Given the description of an element on the screen output the (x, y) to click on. 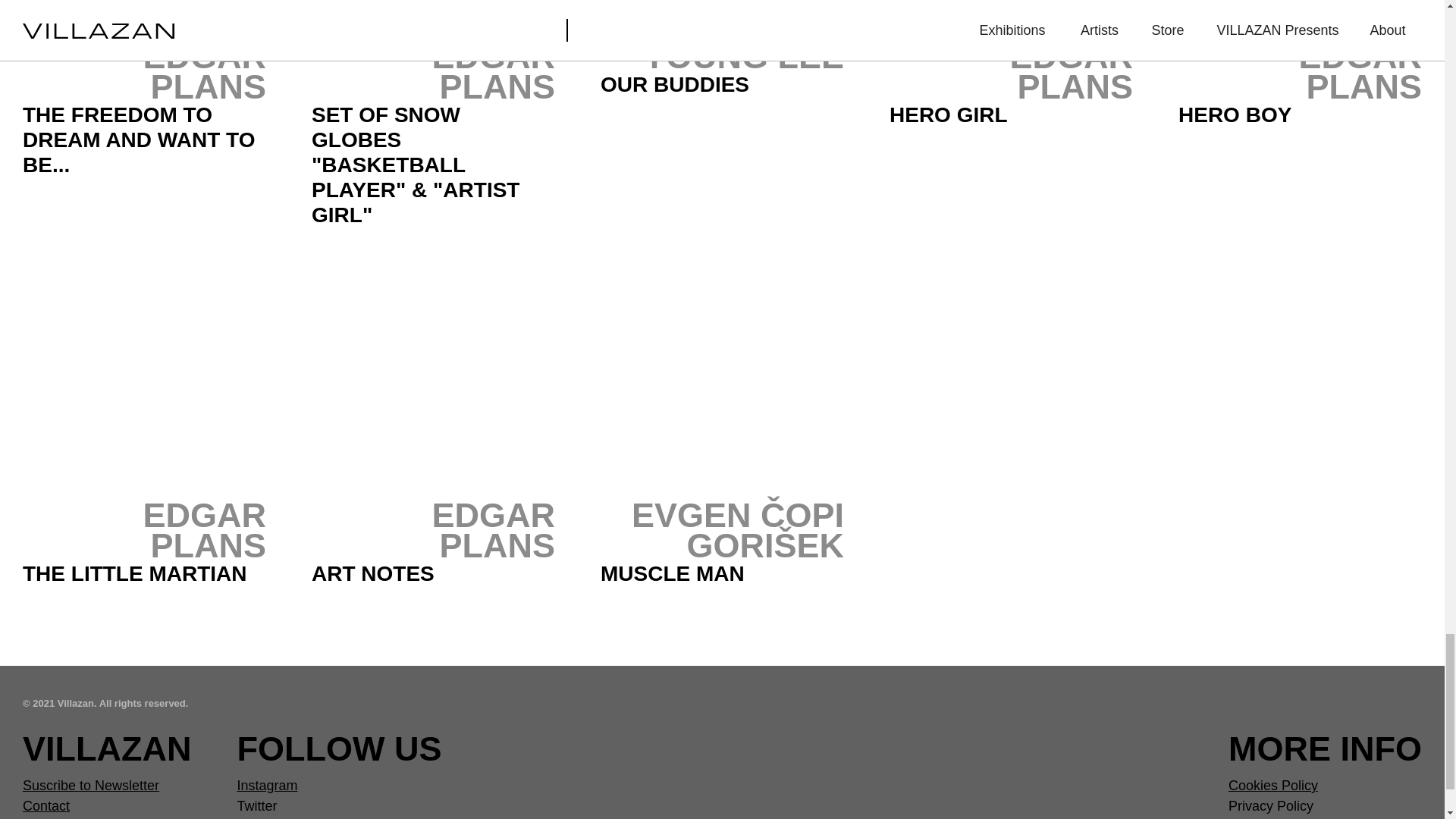
Contact (46, 806)
Cookies Policy (1272, 785)
Suscribe to Newsletter (90, 785)
Instagram (266, 785)
